Given the description of an element on the screen output the (x, y) to click on. 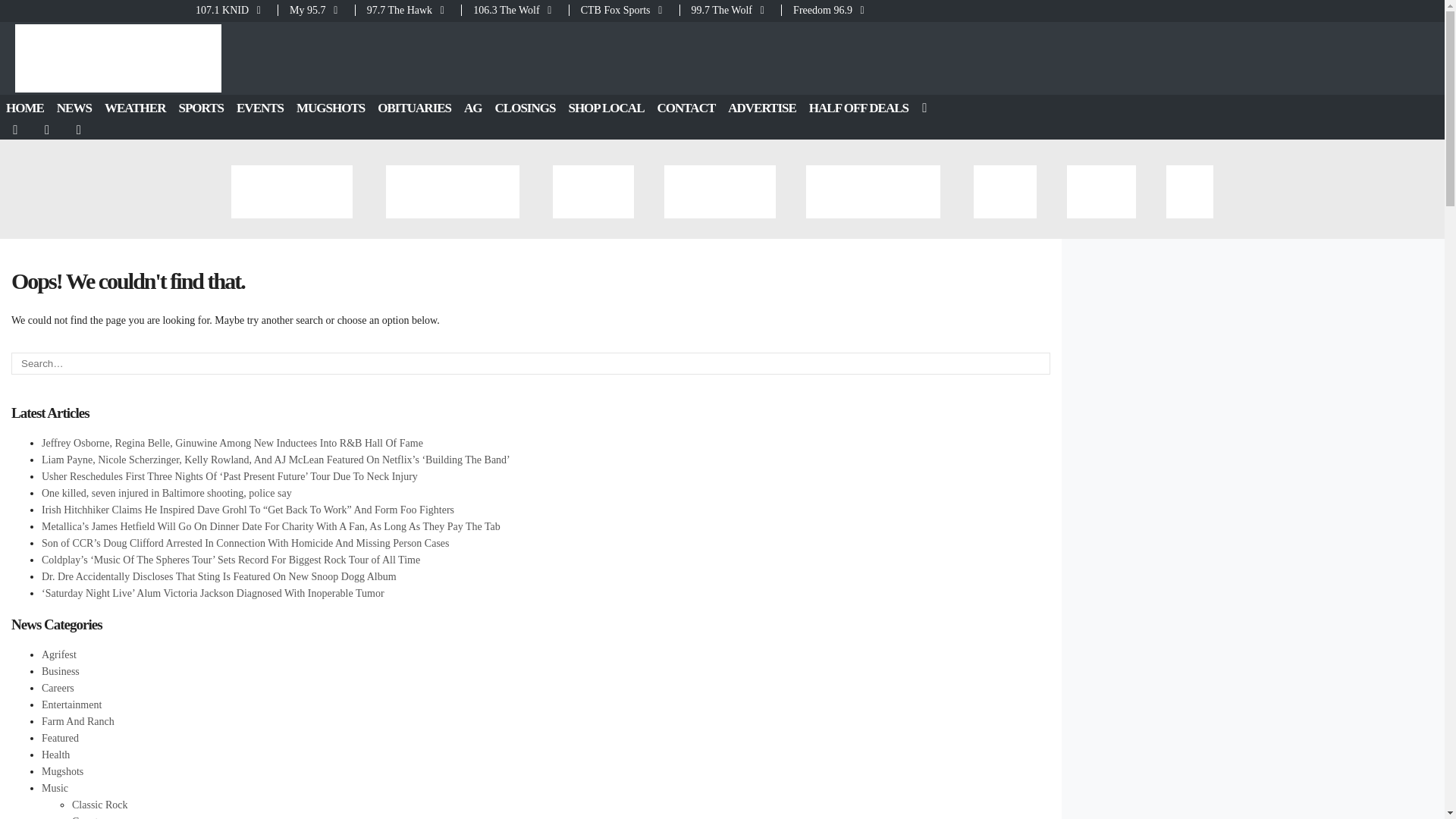
Follow us on Facebook (16, 129)
My 95.7 (316, 9)
One killed, seven injured in Baltimore shooting, police say (167, 492)
Follow us on X (48, 129)
Follow us on Instagram (80, 129)
107.1 KNID (235, 9)
